Given the description of an element on the screen output the (x, y) to click on. 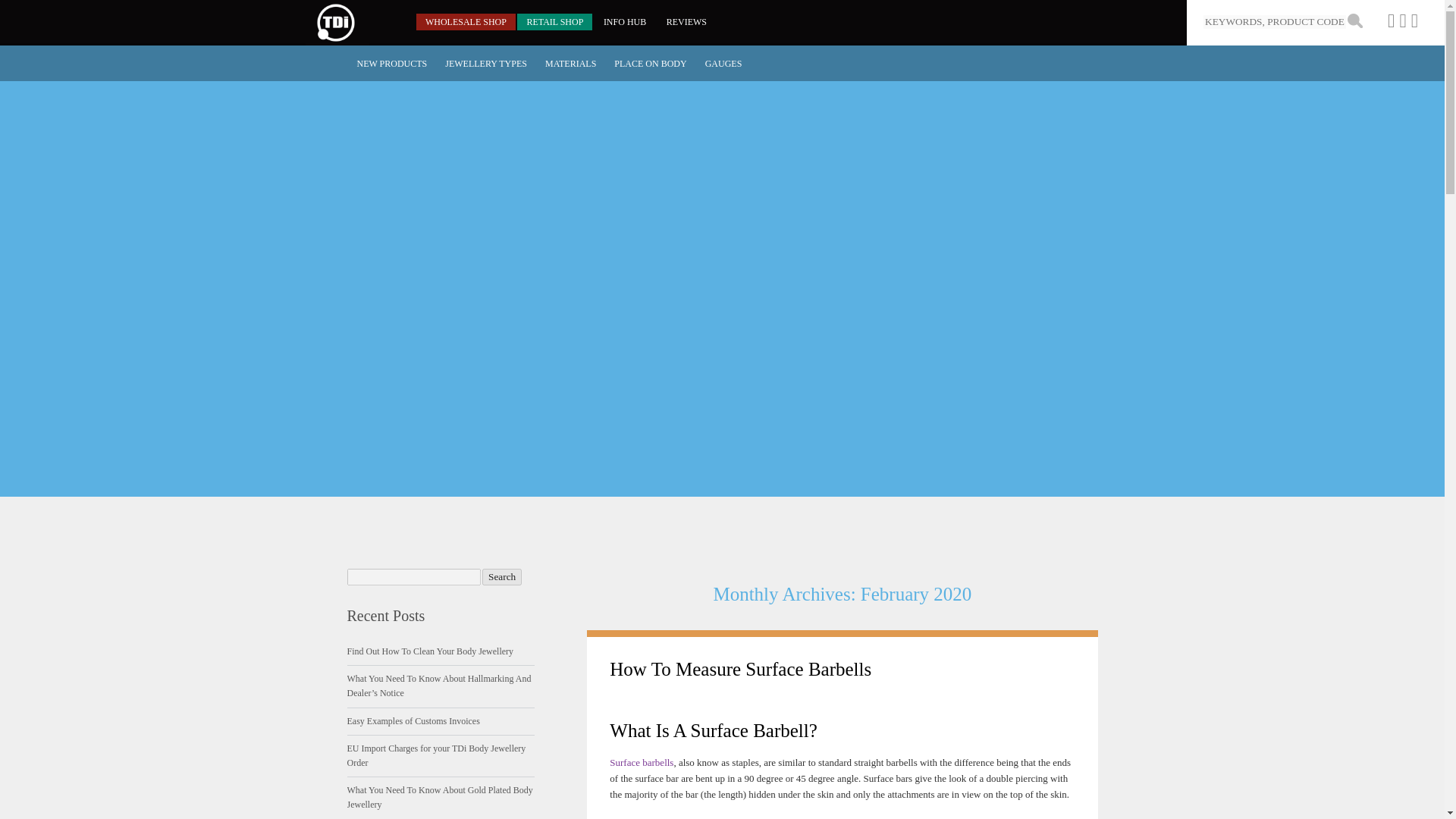
Search (501, 576)
RETAIL SHOP (554, 21)
PLACE ON BODY (650, 63)
GAUGES (723, 63)
WHOLESALE SHOP (465, 21)
Look Easy Examples of Customs Invoices (413, 720)
Look Find Out How To Clean Your Body Jewellery (430, 651)
Look EU Import Charges for your TDi Body Jewellery Order (436, 755)
REVIEWS (687, 21)
How To Measure Surface Barbells (740, 669)
